Given the description of an element on the screen output the (x, y) to click on. 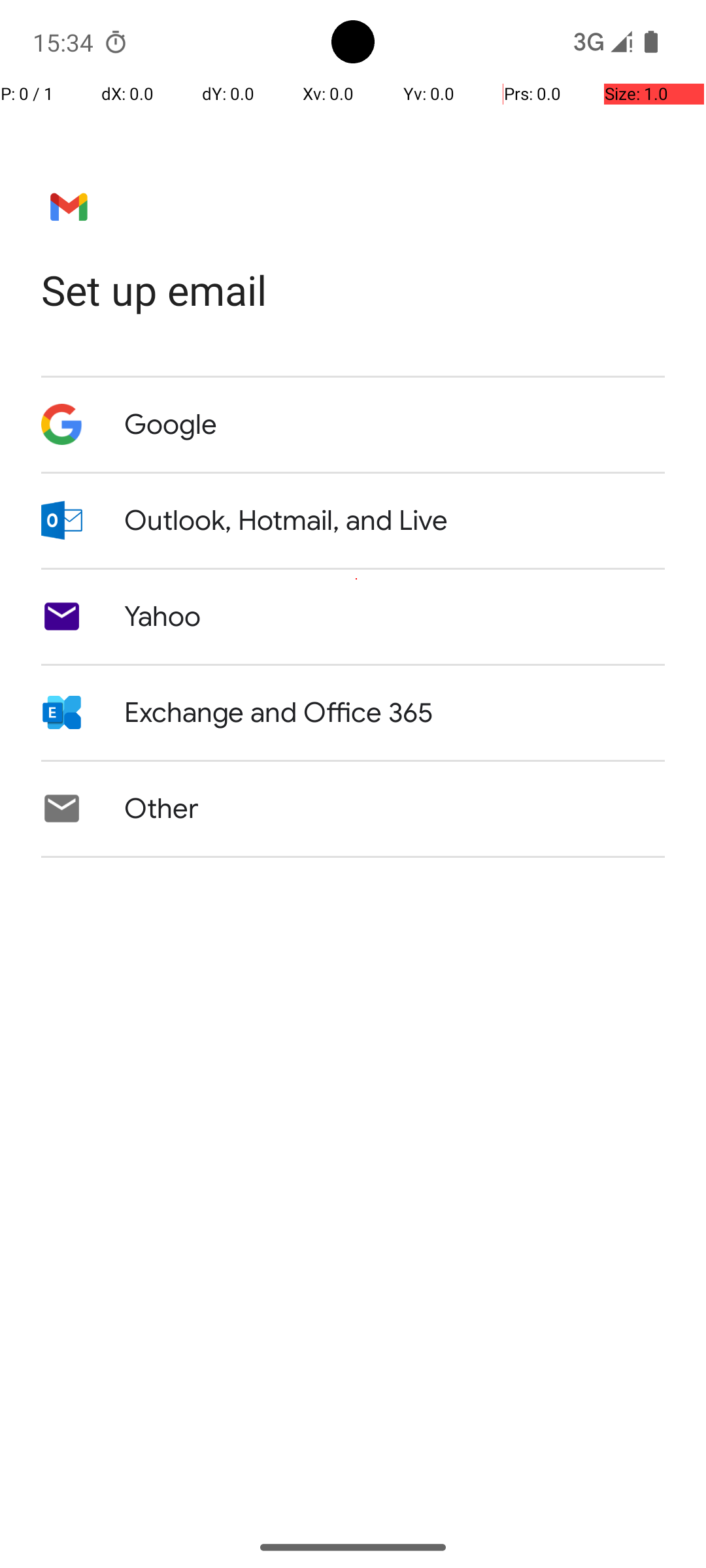
Set up email Element type: android.widget.TextView (352, 289)
Outlook, Hotmail, and Live Element type: android.widget.TextView (286, 520)
Exchange and Office 365 Element type: android.widget.TextView (278, 712)
